Given the description of an element on the screen output the (x, y) to click on. 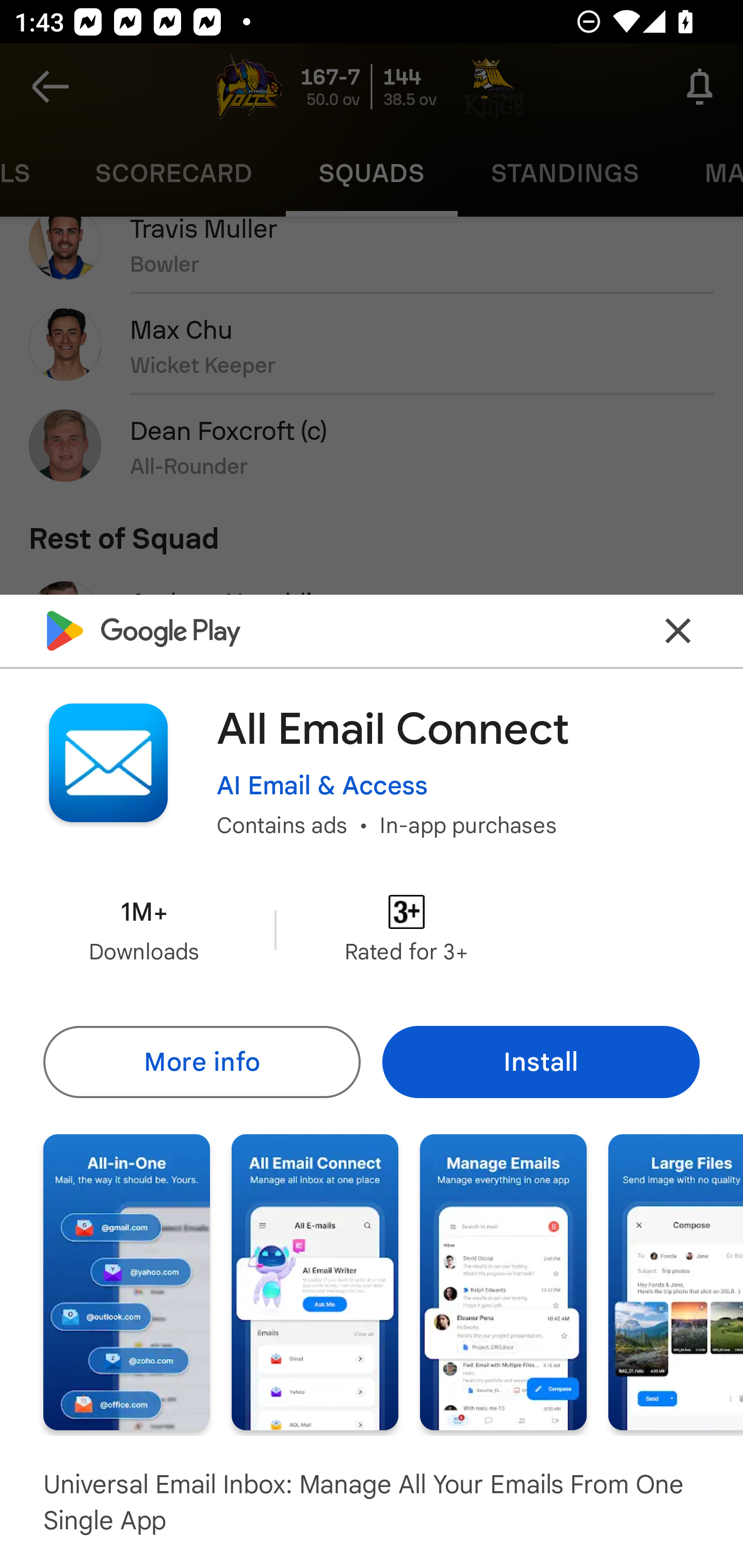
Close (677, 630)
Image of app or game icon for All Email Connect (108, 762)
AI Email & Access (321, 784)
More info (201, 1061)
Install (540, 1061)
Screenshot "1" of "6" (126, 1281)
Screenshot "2" of "6" (314, 1281)
Screenshot "3" of "6" (502, 1281)
Screenshot "4" of "6" (675, 1281)
